Given the description of an element on the screen output the (x, y) to click on. 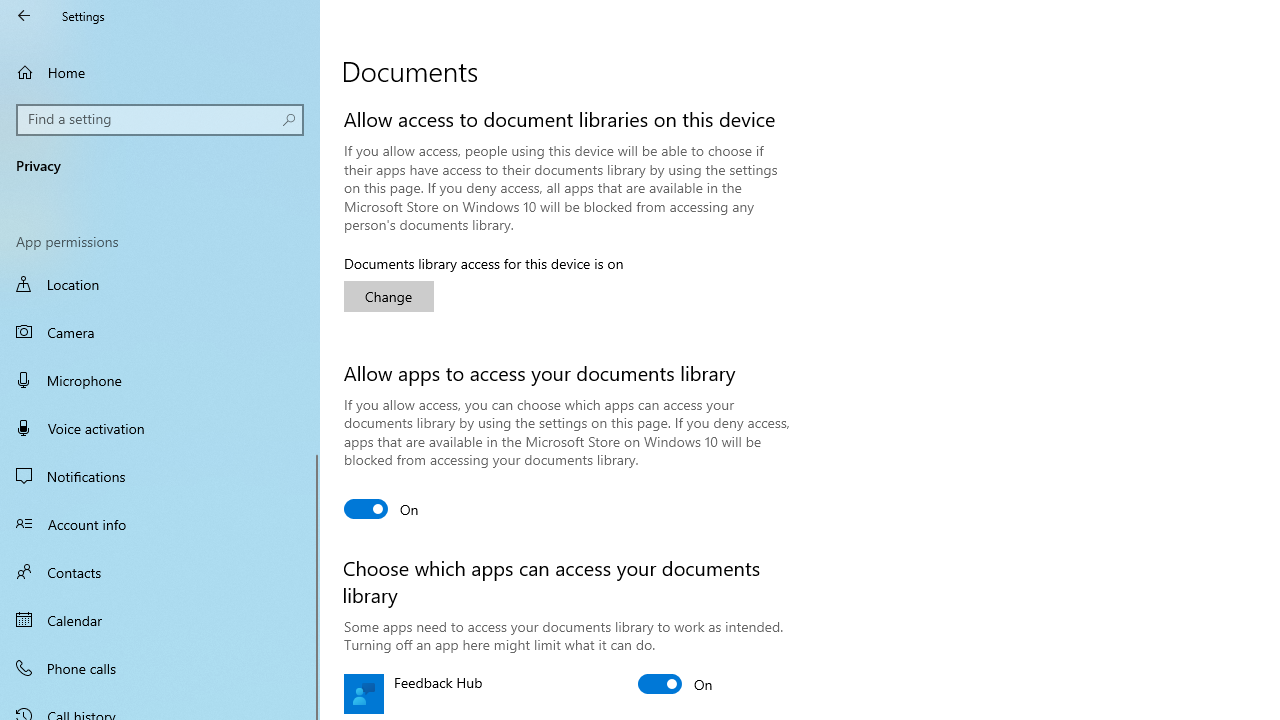
Location (160, 286)
Microphone (160, 379)
Search box, Find a setting (160, 119)
Camera (160, 331)
Change (388, 295)
Back (24, 15)
Account info (160, 523)
Phone calls (160, 667)
Allow apps to access your documents library (381, 508)
Calendar (160, 619)
Feedback Hub (675, 683)
Notifications (160, 475)
Voice activation (160, 427)
Contacts (160, 571)
Home (160, 71)
